Given the description of an element on the screen output the (x, y) to click on. 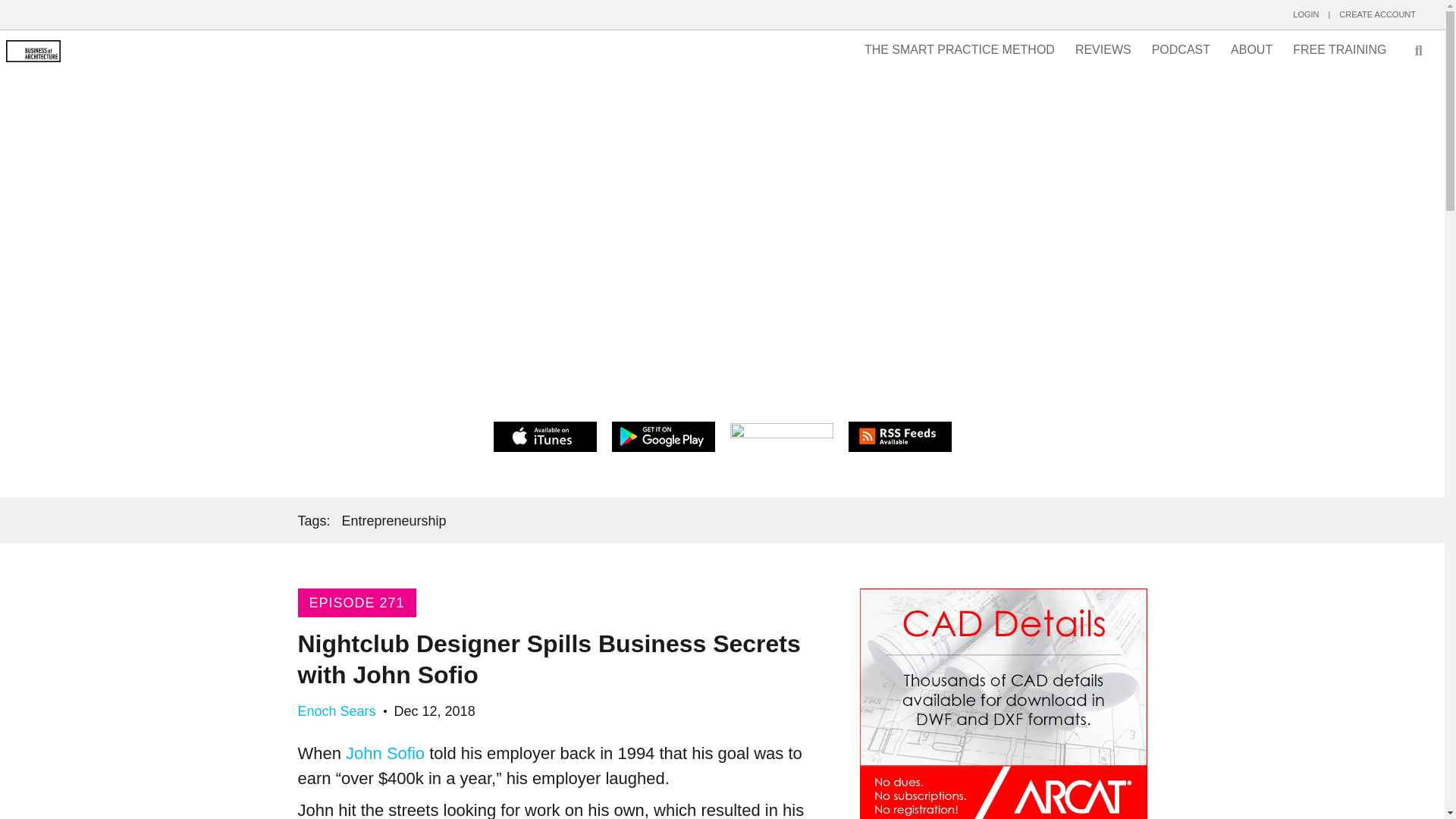
PODCAST (1180, 49)
John Sofio (385, 752)
LOGIN (1305, 14)
ABOUT (1252, 49)
REVIEWS (1103, 49)
THE SMART PRACTICE METHOD (959, 49)
FREE TRAINING (1339, 49)
CREATE ACCOUNT (1378, 14)
